Given the description of an element on the screen output the (x, y) to click on. 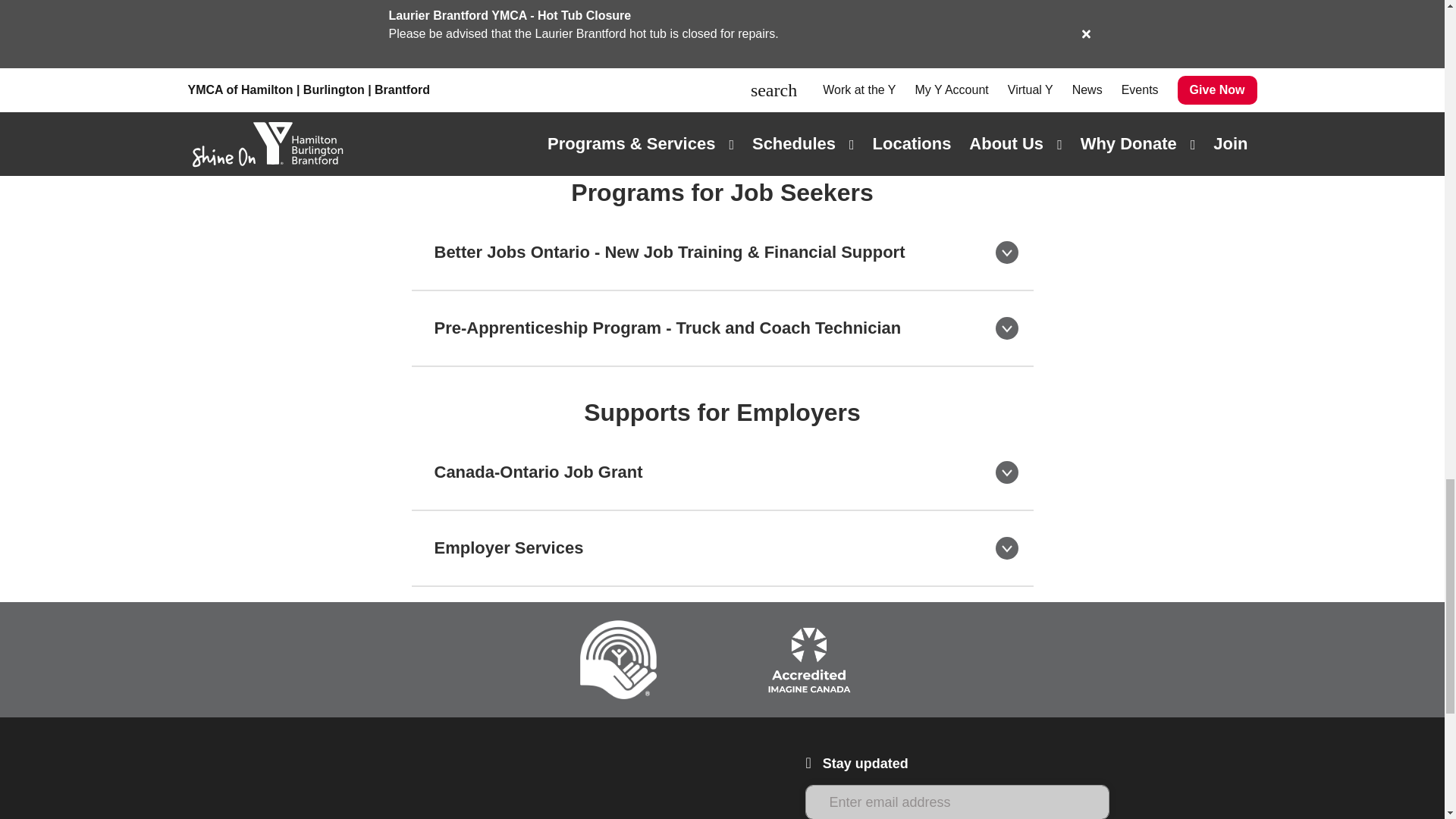
Newcomer Services (862, 56)
